Given the description of an element on the screen output the (x, y) to click on. 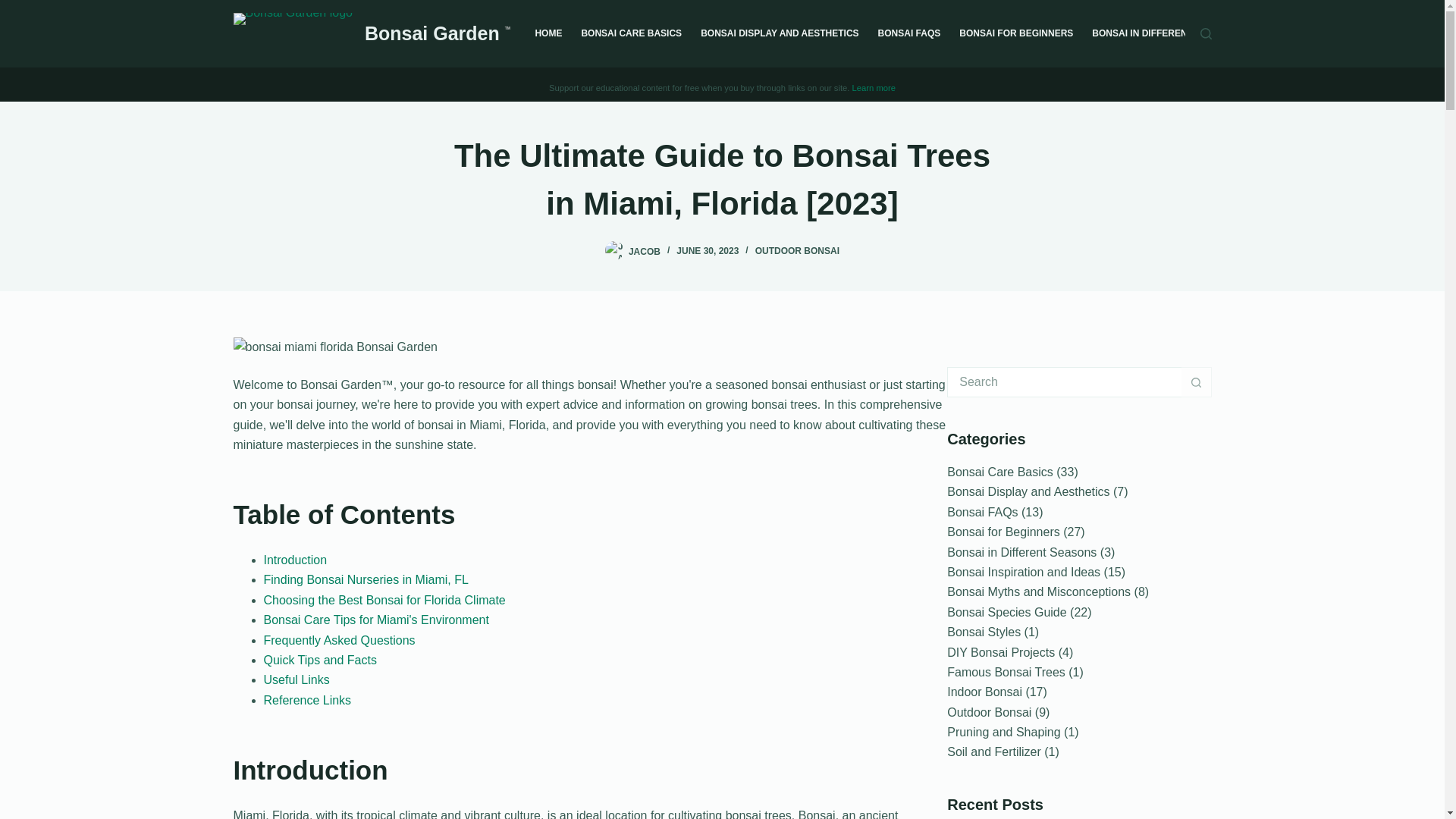
Learn more (873, 87)
Skip to content (15, 7)
BONSAI DISPLAY AND AESTHETICS (779, 33)
BONSAI FAQS (908, 33)
bonsai miami florida (335, 347)
Search for... (1063, 381)
BONSAI CARE BASICS (631, 33)
Bonsai Garden (435, 33)
BONSAI IN DIFFERENT SEASONS (1166, 33)
Posts by Jacob (644, 250)
JACOB (644, 250)
BONSAI FOR BEGINNERS (1016, 33)
OUTDOOR BONSAI (797, 250)
